Given the description of an element on the screen output the (x, y) to click on. 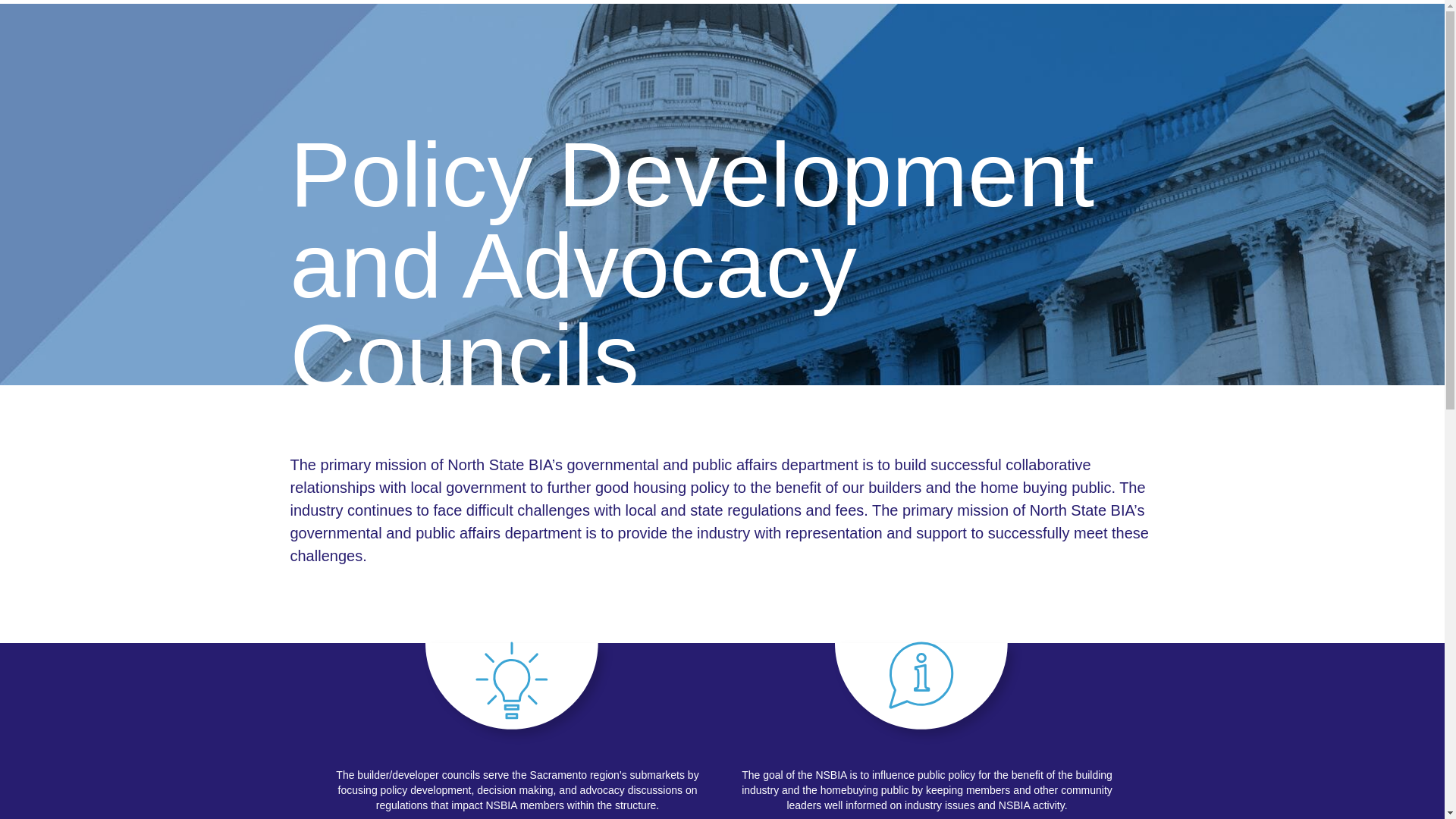
NEWS (777, 51)
WHO WE ARE (480, 51)
Type and press Enter to search. (1115, 52)
MEMBER LOGIN (998, 51)
CONTACT US (895, 51)
Group 1125 (926, 692)
MEMBERSHIP (562, 51)
EVENTS (828, 51)
Group 1124 (516, 692)
